Given the description of an element on the screen output the (x, y) to click on. 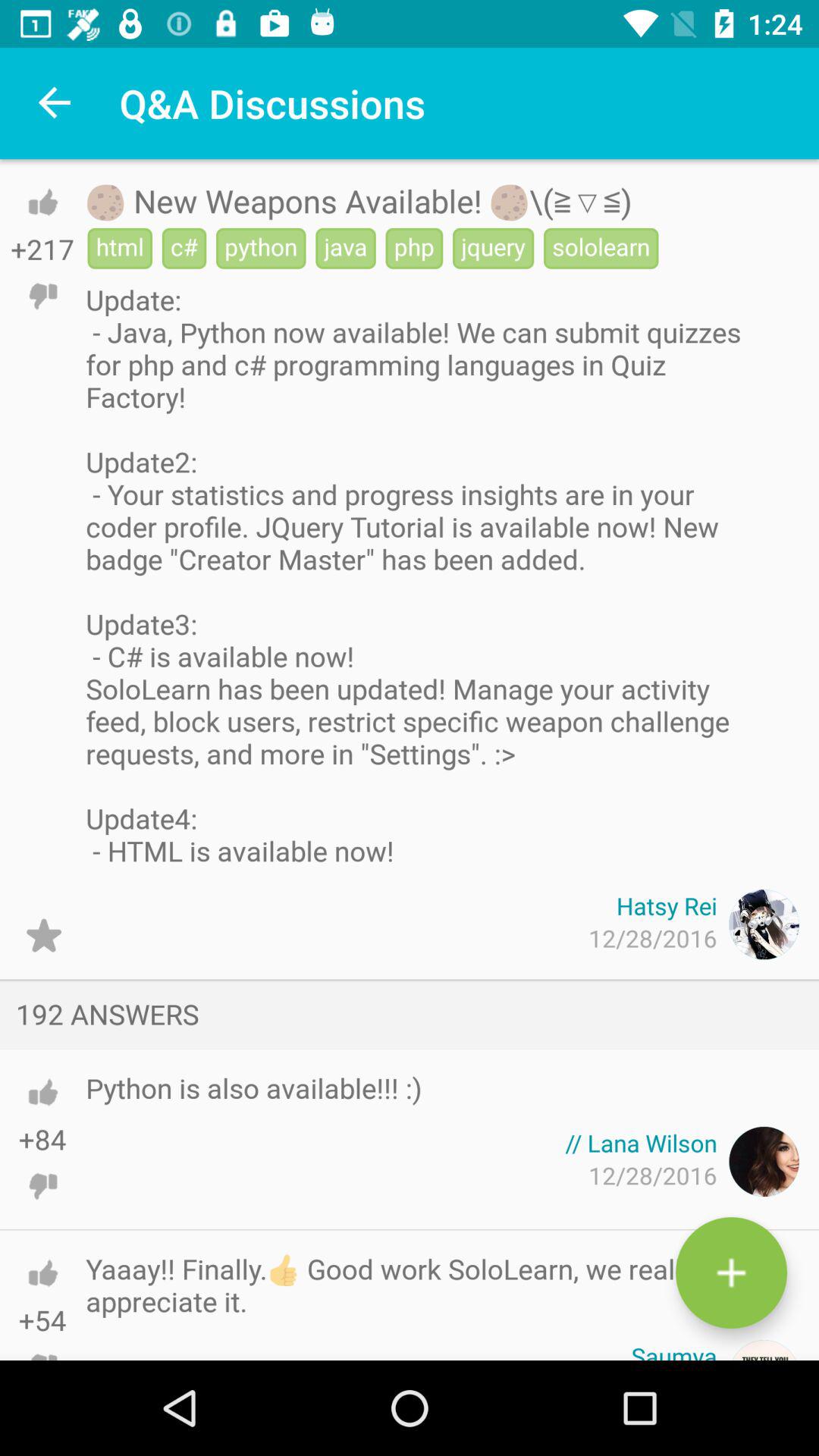
choose the item above html icon (358, 200)
